Given the description of an element on the screen output the (x, y) to click on. 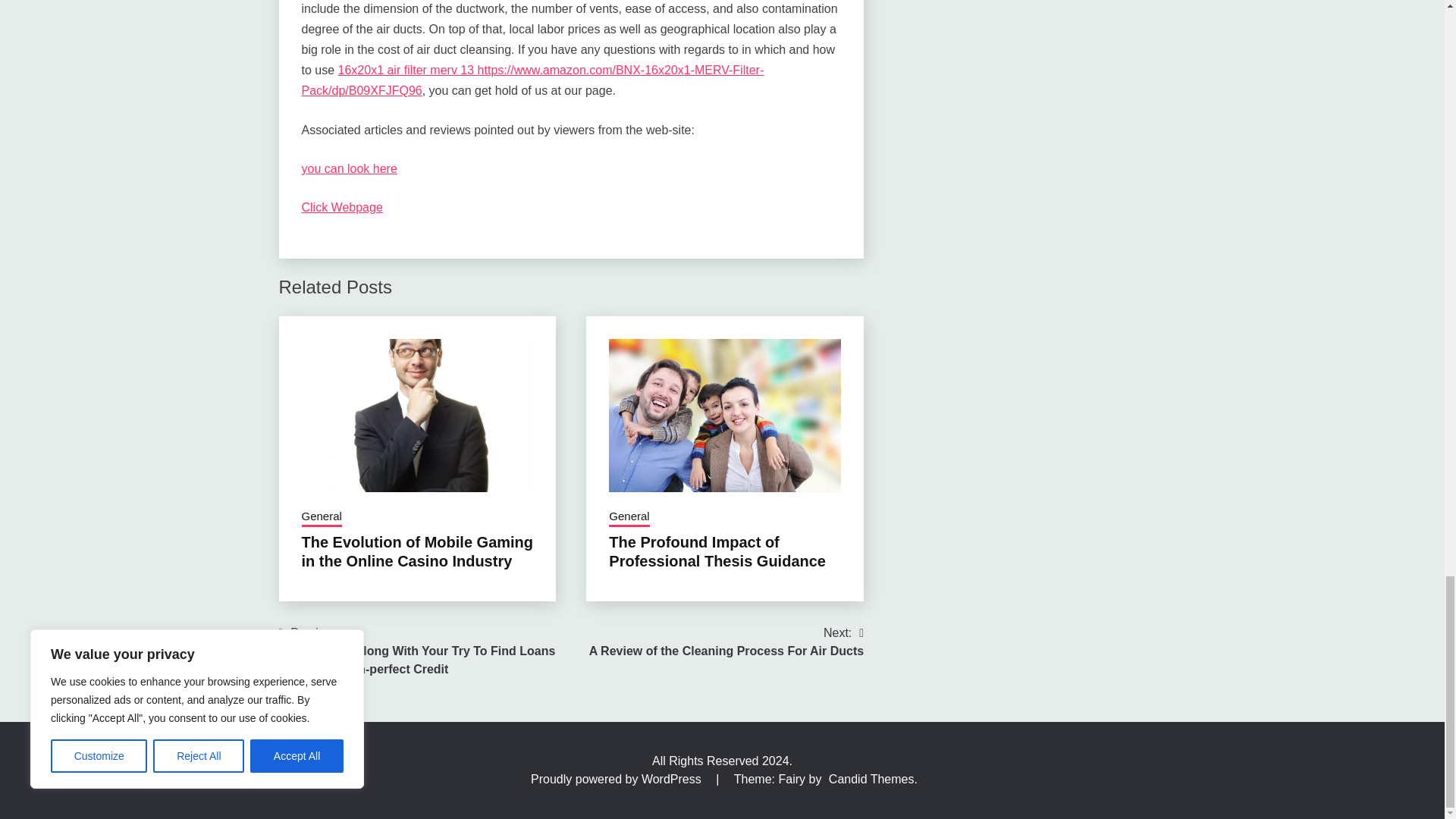
General (321, 517)
Click Webpage (341, 206)
you can look here (349, 168)
